Given the description of an element on the screen output the (x, y) to click on. 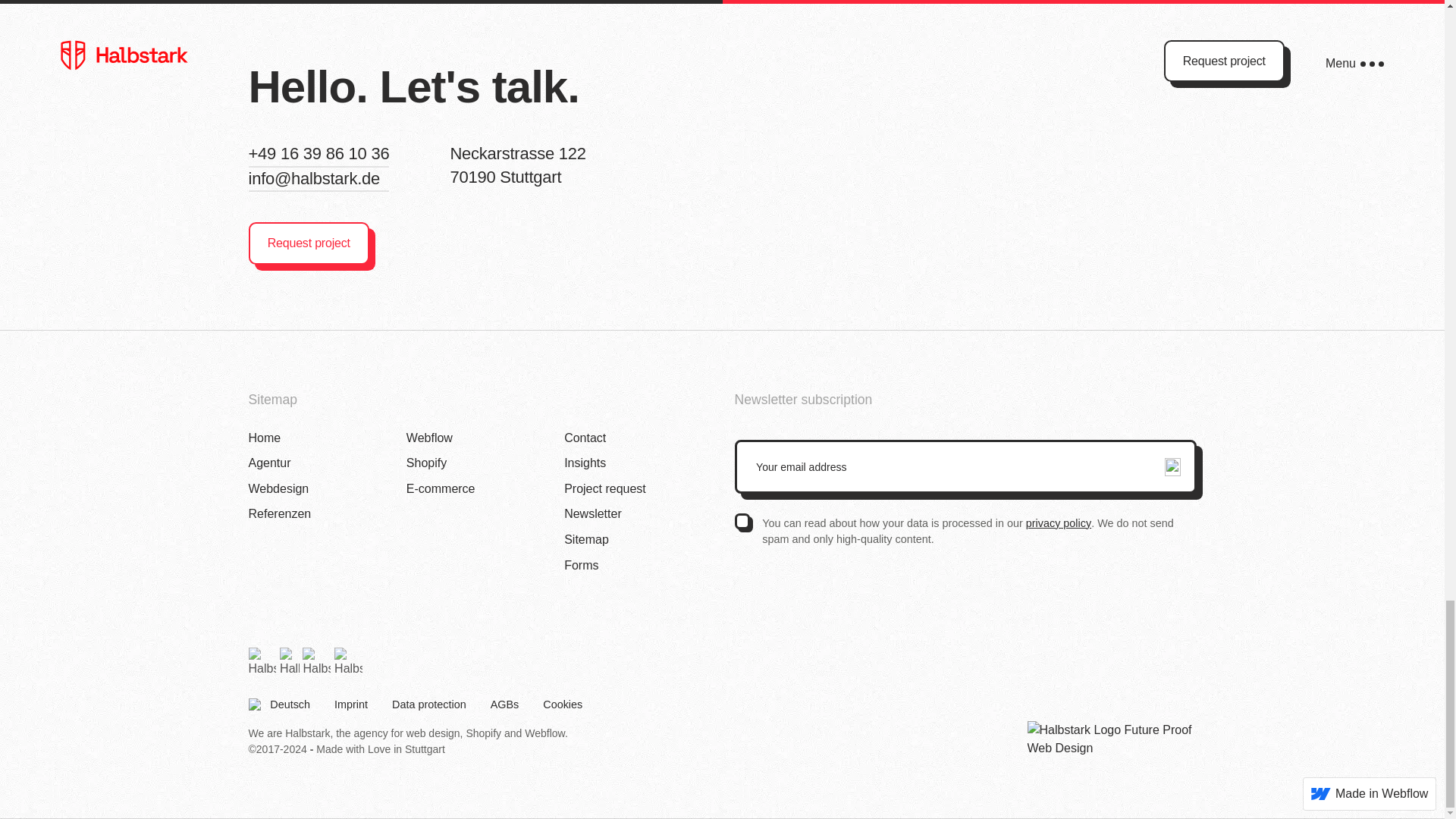
Contact (584, 438)
Webflow (429, 438)
Webdesign (278, 488)
Request project (308, 242)
Insights (520, 167)
Home (584, 463)
Agentur (264, 438)
Referenzen (269, 463)
Shopify (279, 514)
